Given the description of an element on the screen output the (x, y) to click on. 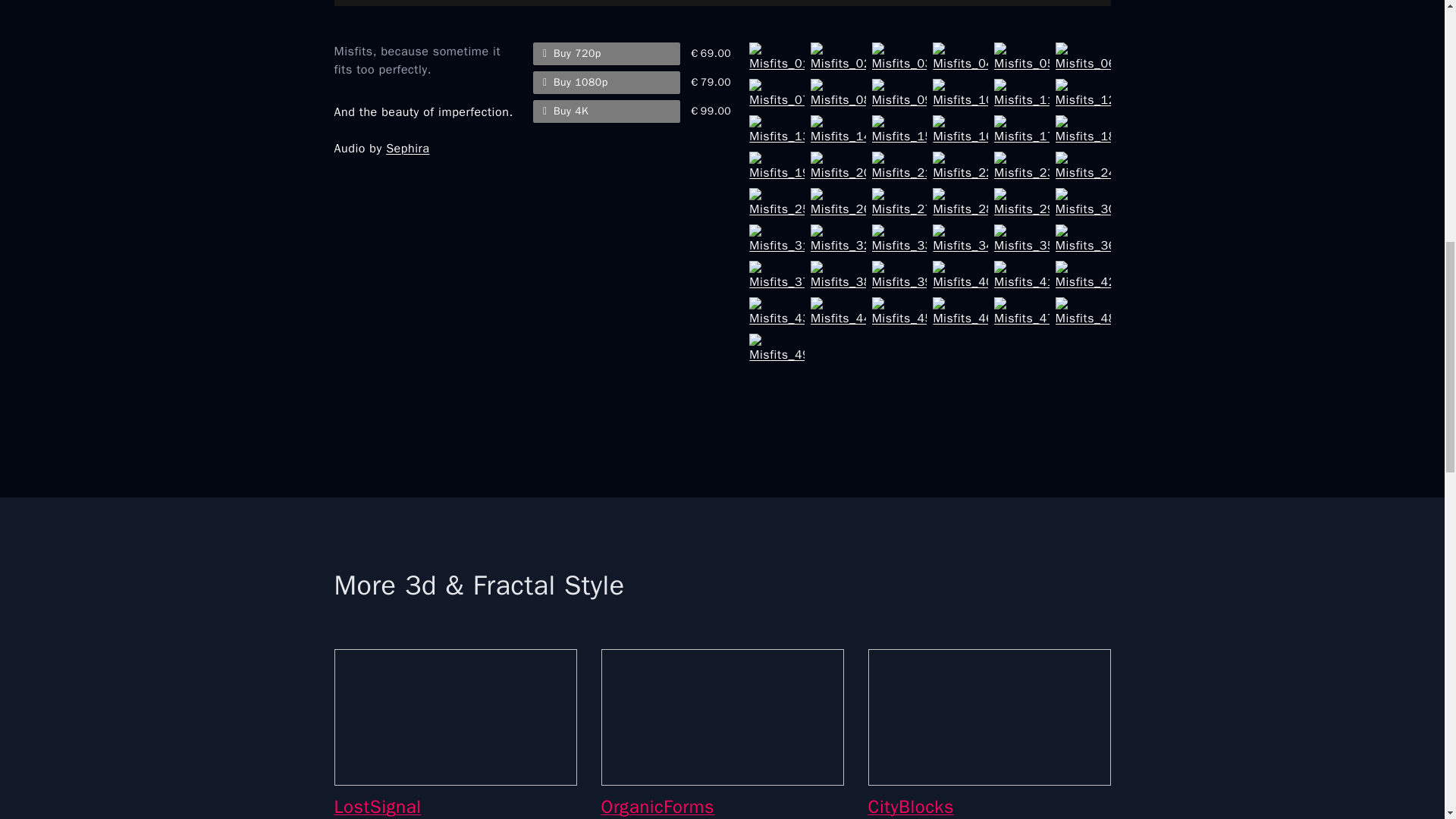
Buy 720p (605, 53)
Buy 1080p (605, 82)
Buy 4K (605, 110)
Sephira (407, 148)
